Given the description of an element on the screen output the (x, y) to click on. 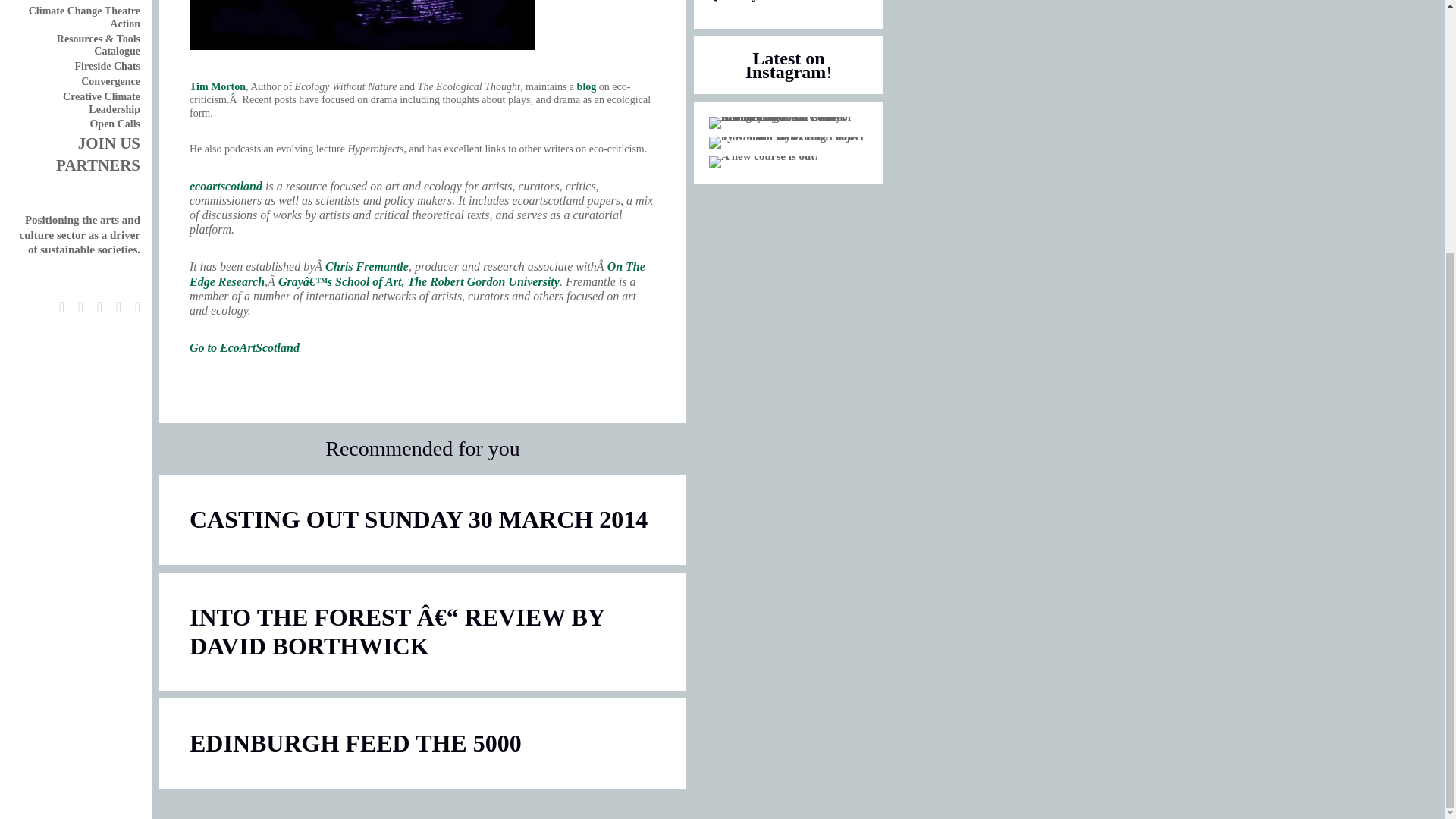
Convergence (110, 81)
Open Calls (113, 123)
Department of Utopian Arts and Letters (86, 0)
Climate Change Theatre Action (84, 16)
PARTNERS (97, 165)
JOIN US (108, 143)
Fireside Chats (107, 66)
Creative Climate Leadership (100, 102)
